Given the description of an element on the screen output the (x, y) to click on. 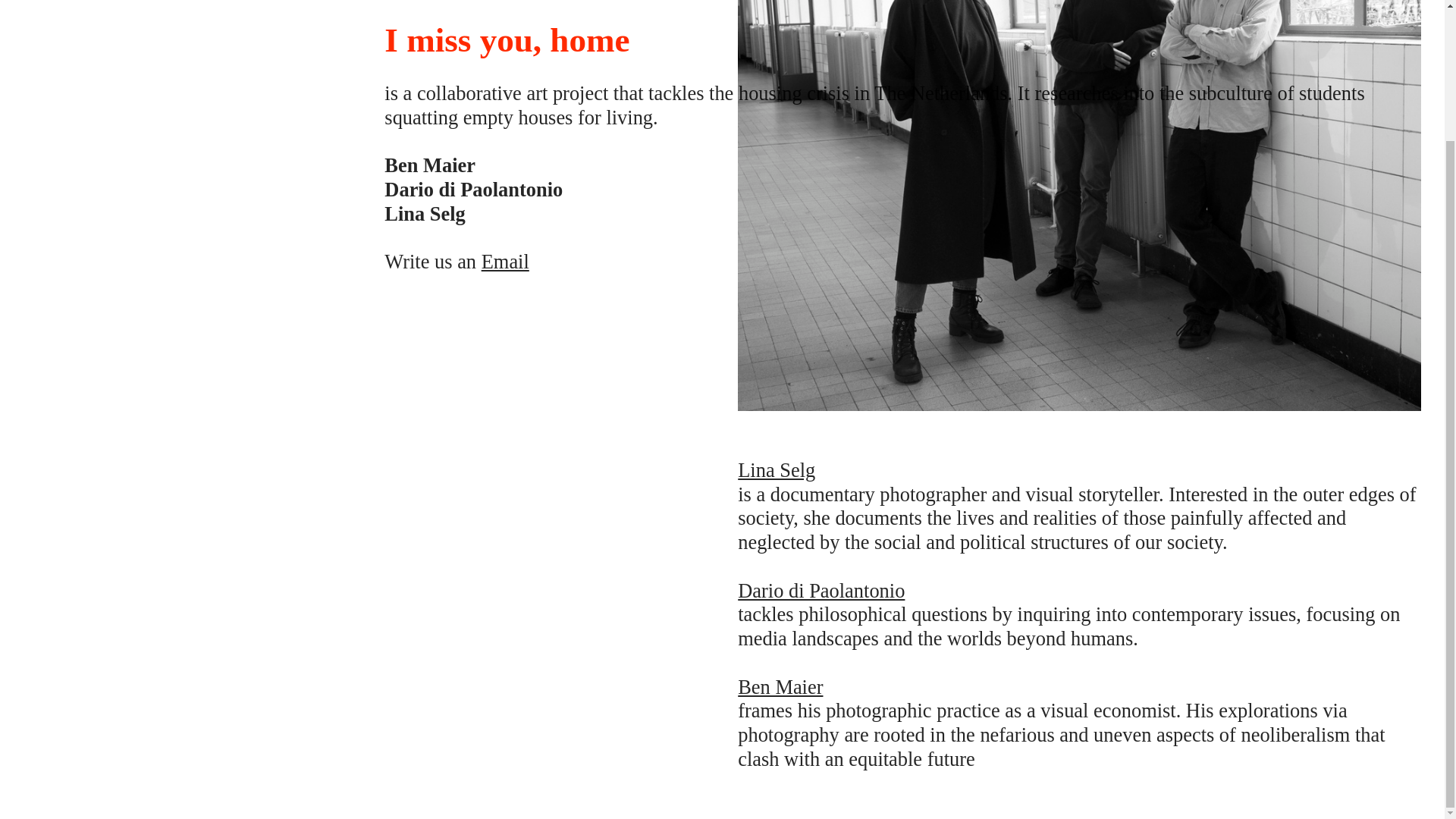
Dario di Paolantonio (821, 590)
Email (505, 101)
Lina Selg (776, 469)
Ben Maier (780, 686)
